Given the description of an element on the screen output the (x, y) to click on. 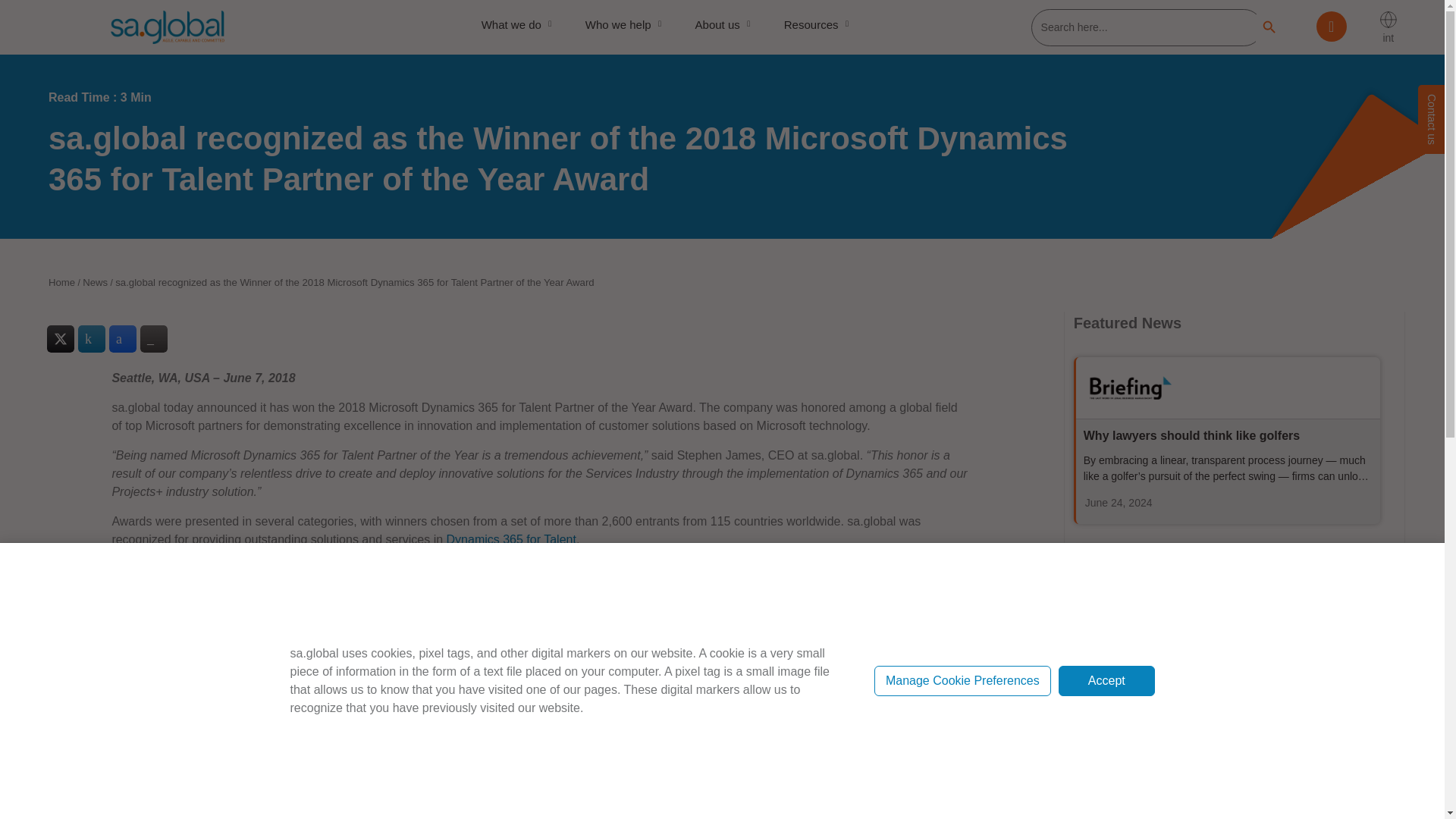
Search Button (1268, 26)
sa.global company logo (167, 26)
What we do (521, 24)
Resources (821, 24)
Who we help (628, 24)
About us (728, 24)
